Given the description of an element on the screen output the (x, y) to click on. 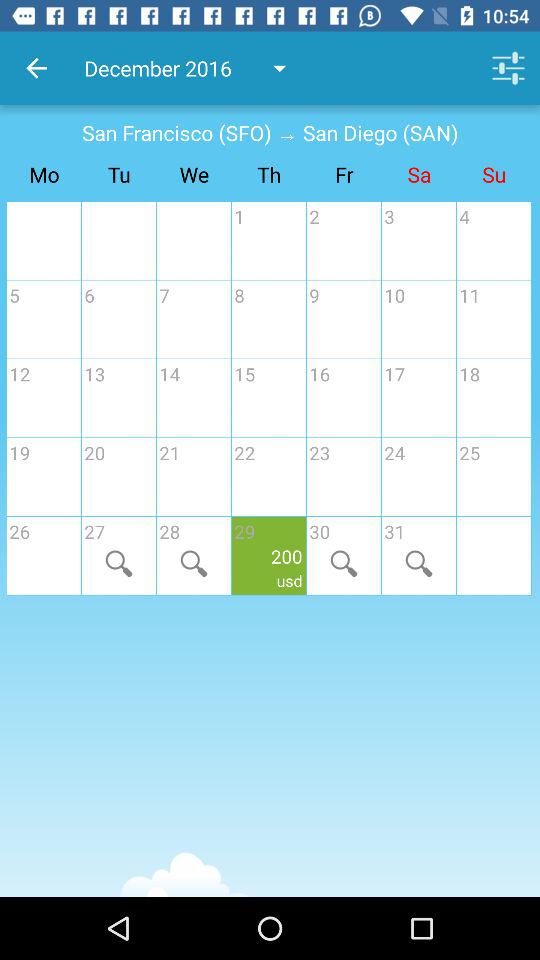
click the item to the left of the december 2016 (36, 68)
